Given the description of an element on the screen output the (x, y) to click on. 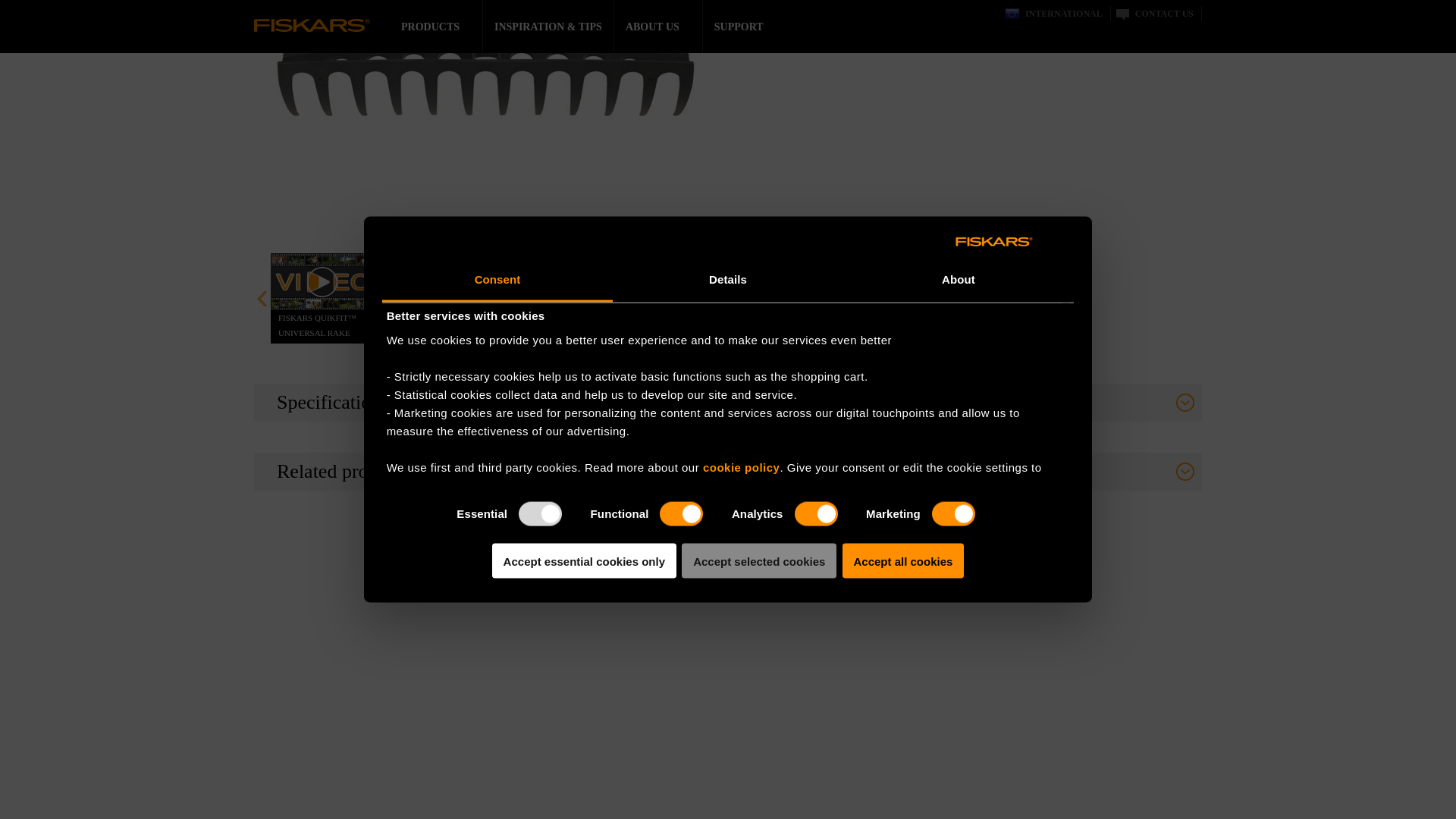
Accept essential cookies only (584, 230)
cookie policy (741, 135)
